Given the description of an element on the screen output the (x, y) to click on. 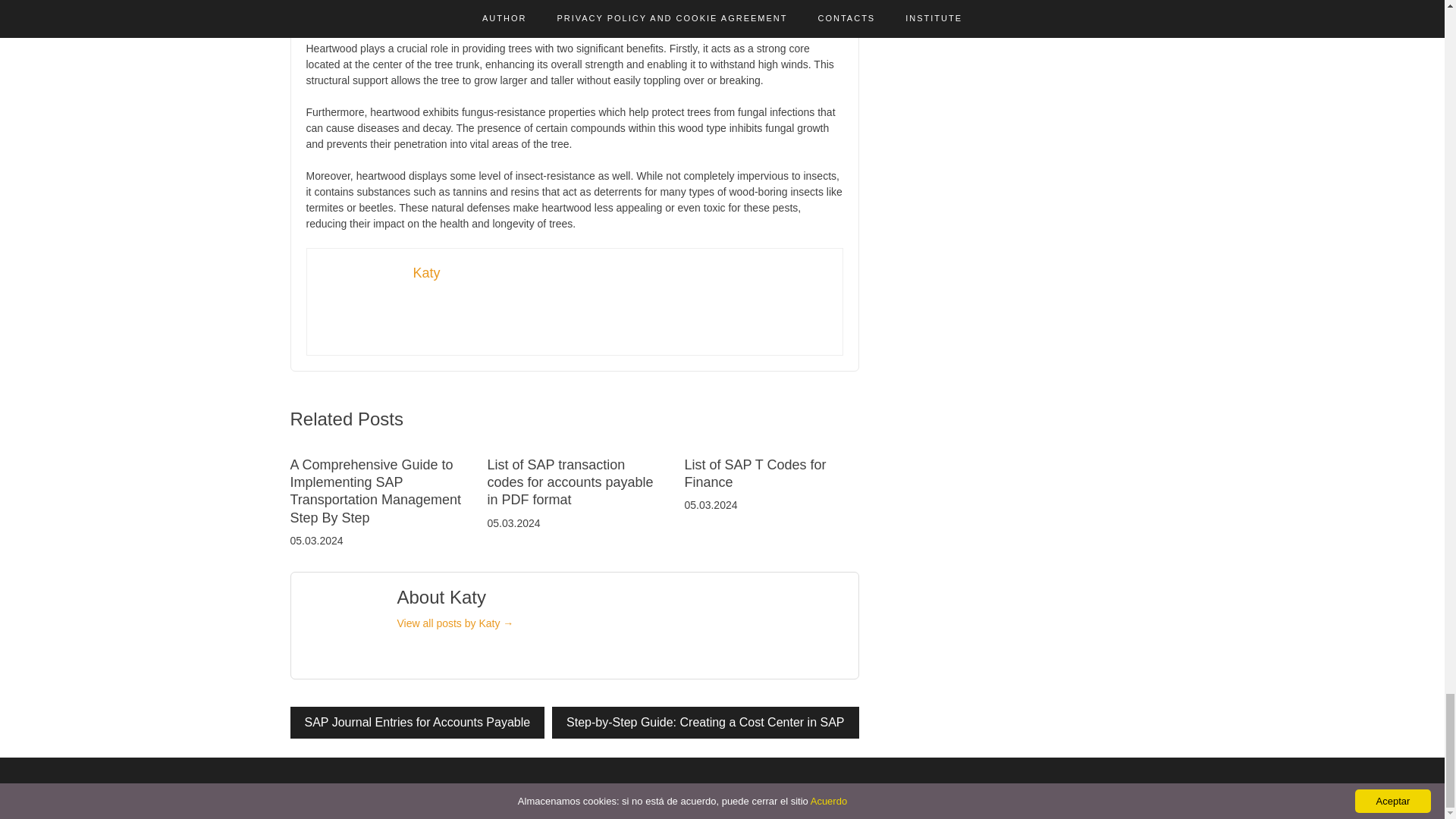
Katy (425, 272)
SAP Journal Entries for Accounts Payable (416, 722)
List of SAP T Codes for Finance (754, 473)
Step-by-Step Guide: Creating a Cost Center in SAP (705, 722)
